Given the description of an element on the screen output the (x, y) to click on. 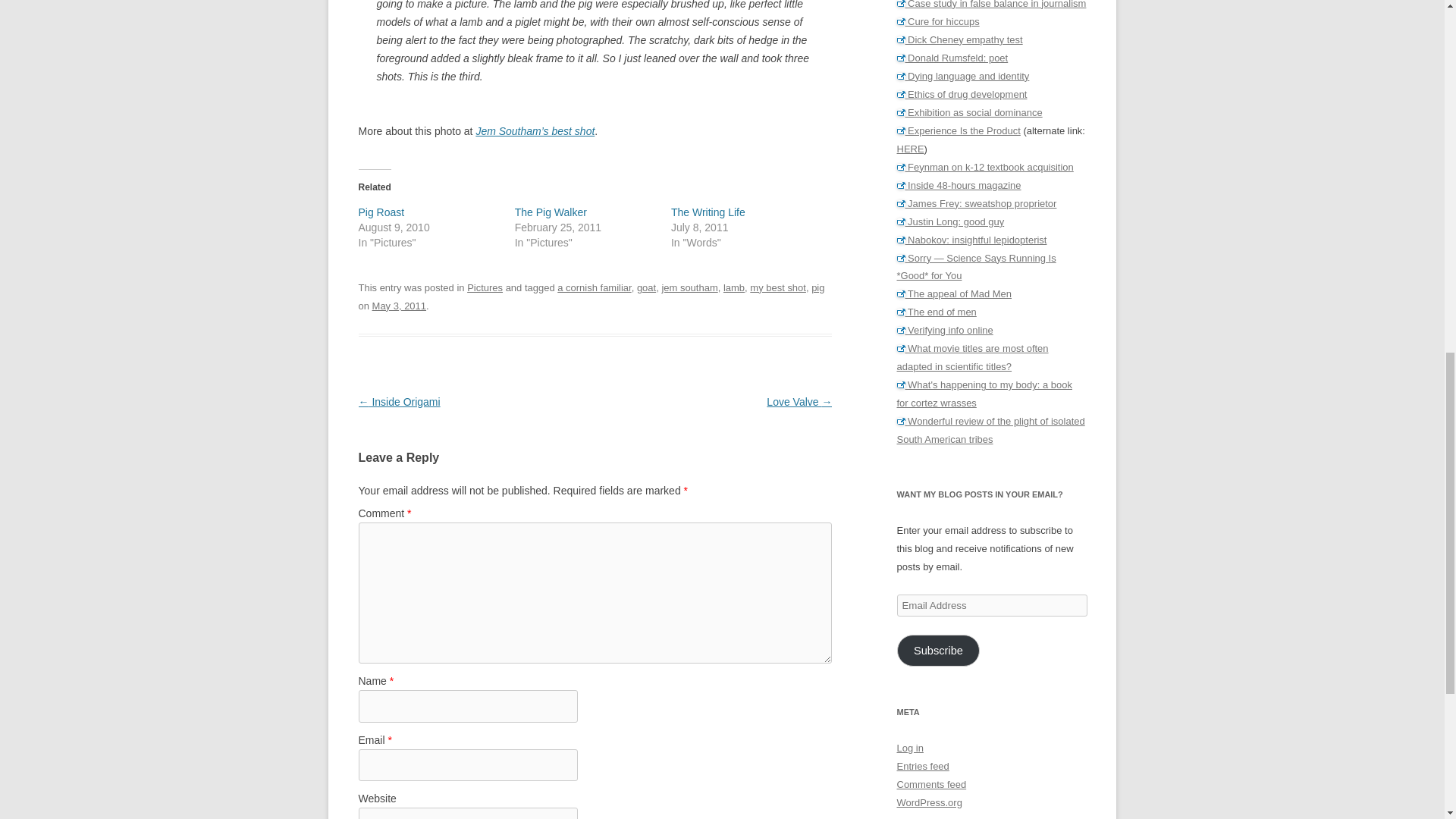
Dick Cheney empathy test (959, 39)
May 3, 2011 (399, 306)
a cornish familiar (593, 287)
8:13 AM (399, 306)
Donald Rumsfeld: poet (951, 57)
Pig Roast (381, 212)
my best shot (777, 287)
Dying language and identity (962, 75)
The Writing Life (708, 212)
The Pig Walker (550, 212)
Pictures (484, 287)
The Pig Walker (550, 212)
Case study in false balance in journalism (991, 4)
Pig Roast (381, 212)
pig (817, 287)
